Given the description of an element on the screen output the (x, y) to click on. 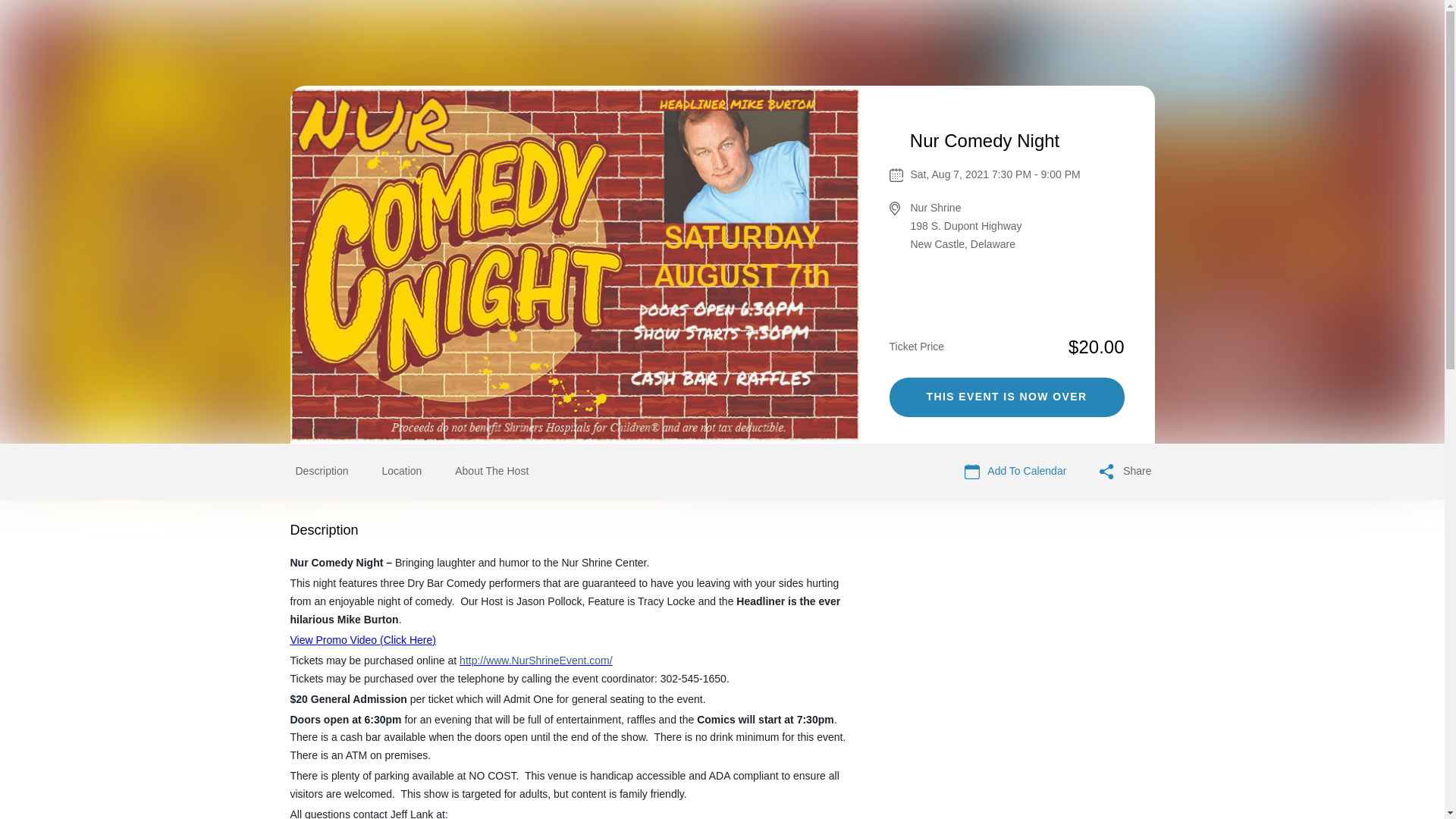
Share (1125, 471)
Add To Calendar (1014, 471)
Description (322, 471)
About The Host (491, 471)
Location (401, 470)
About The Host (491, 470)
Description (322, 470)
Location (401, 471)
